Given the description of an element on the screen output the (x, y) to click on. 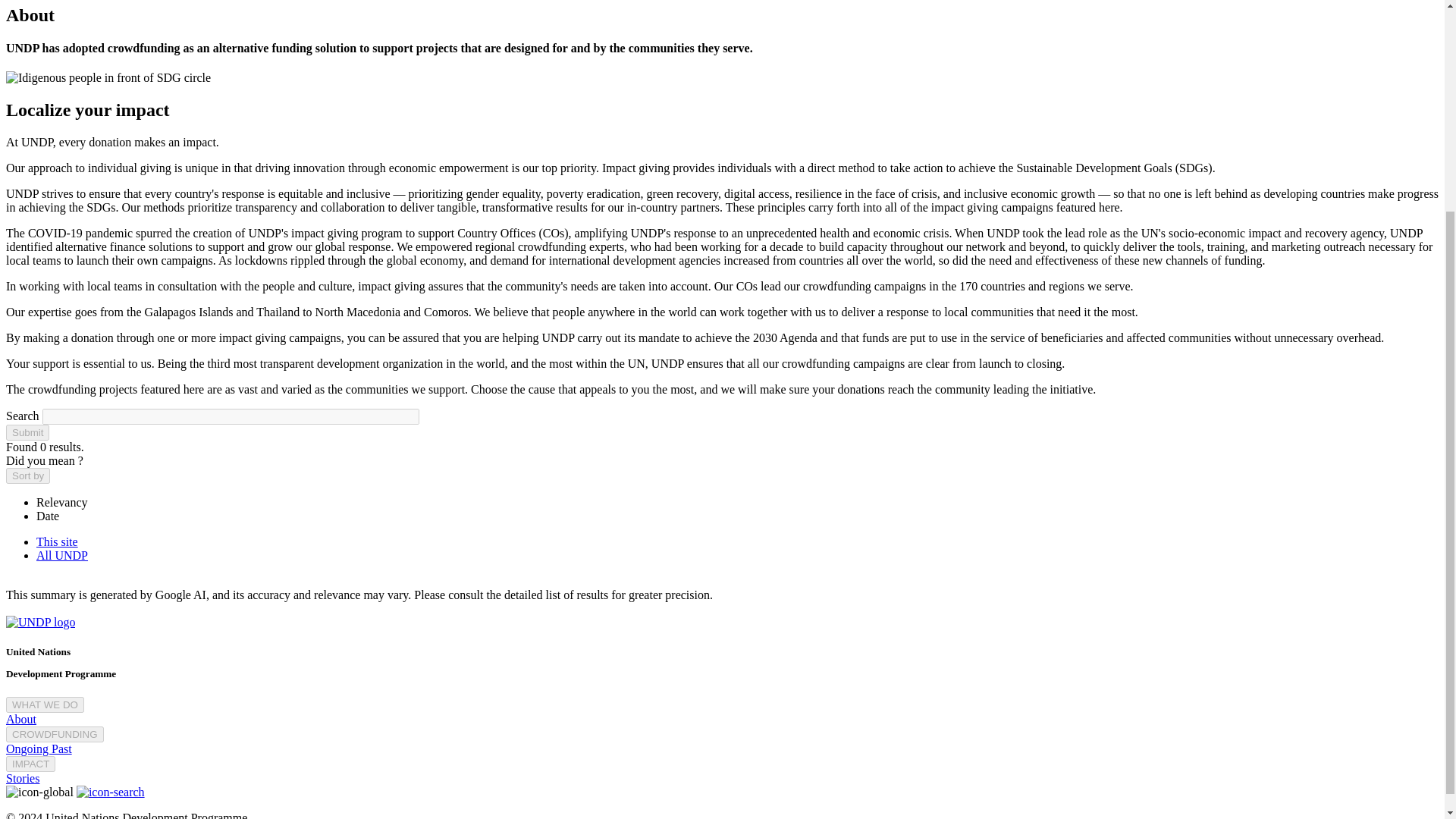
Past (60, 748)
Ongoing (27, 748)
About (20, 718)
WHAT WE DO (44, 704)
Stories (22, 778)
Submit (27, 432)
All UNDP (61, 554)
Submit (27, 432)
Sort by (27, 475)
This site (57, 541)
